Given the description of an element on the screen output the (x, y) to click on. 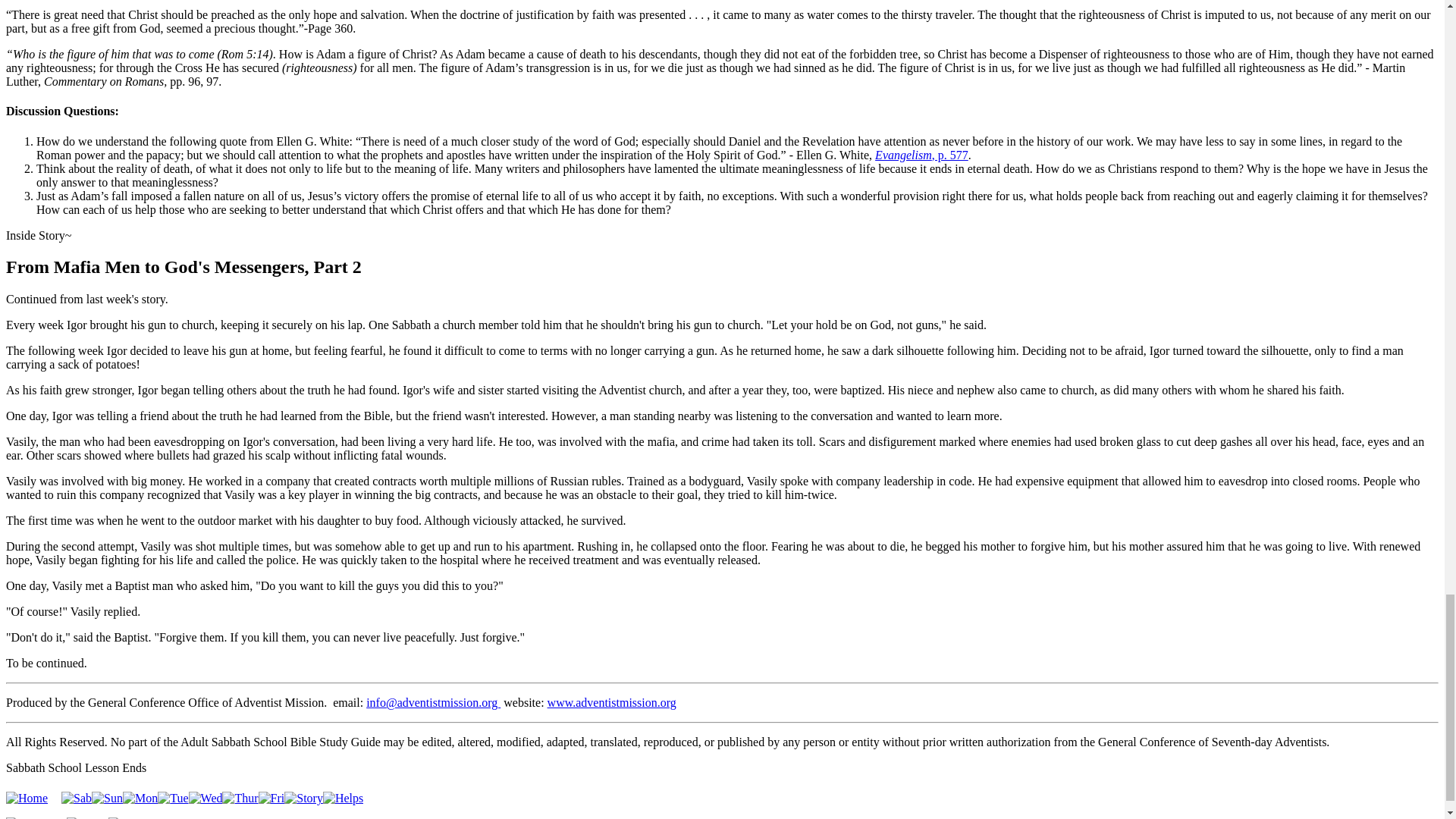
Evangelism, p. 577 (921, 154)
